Given the description of an element on the screen output the (x, y) to click on. 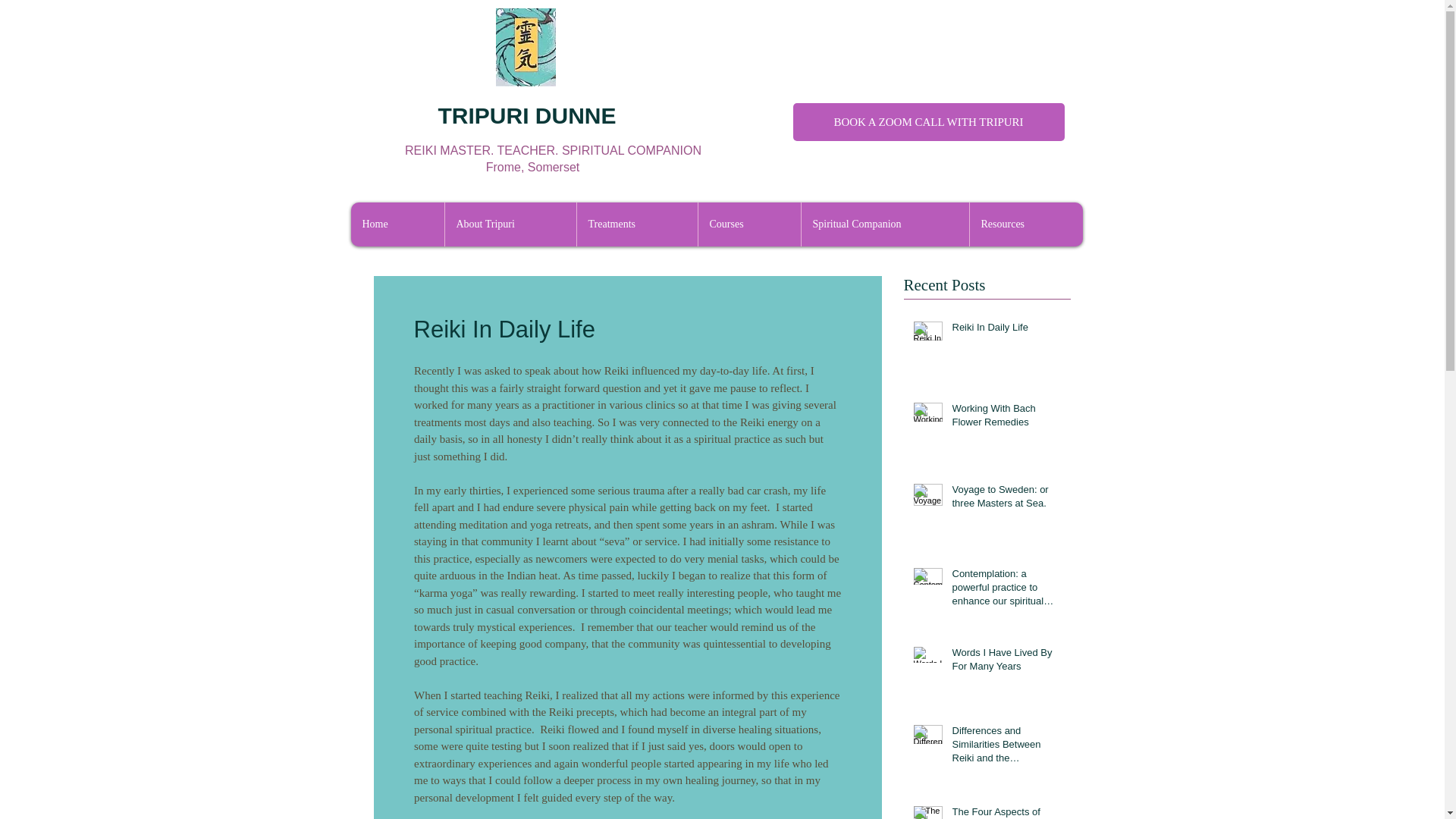
Treatments (636, 224)
BOOK A ZOOM CALL WITH TRIPURI (928, 121)
Reiki In Daily Life (1006, 330)
Working With Bach Flower Remedies (1006, 418)
Courses (748, 224)
About Tripuri (510, 224)
Resources (1026, 224)
Voyage to Sweden: or three Masters at Sea. (1006, 499)
The Four Aspects of Reiki (1006, 812)
